Given the description of an element on the screen output the (x, y) to click on. 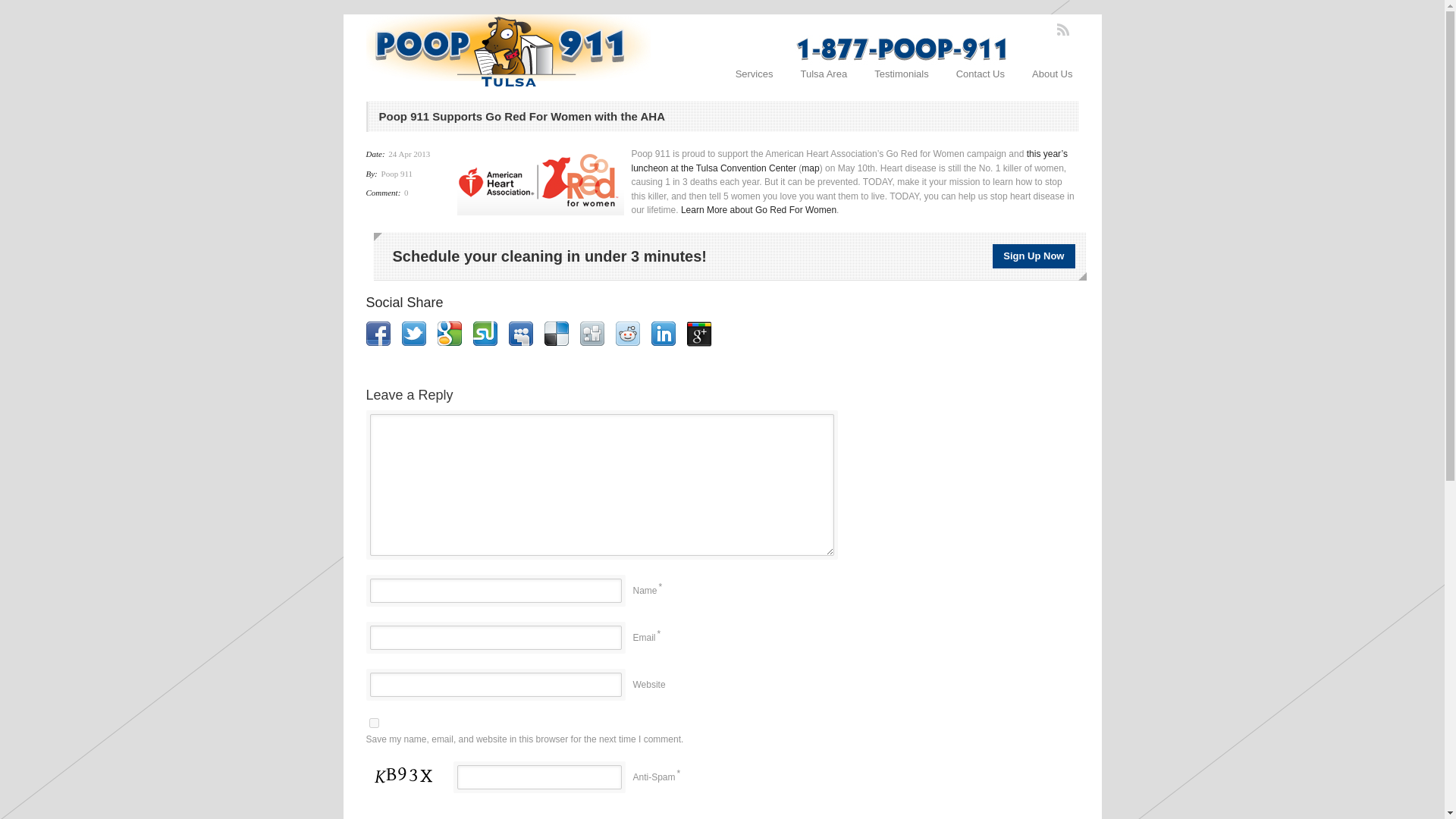
yes (373, 723)
Pooper Scooper Service Testimonials (901, 74)
Contact Us (979, 74)
Testimonials (901, 74)
Poop 911 (396, 172)
Tulsa Area (824, 74)
Sign Up Now (1033, 256)
Learn More about Go Red For Women (758, 209)
Services (754, 74)
map (810, 167)
About Us (1051, 74)
